Given the description of an element on the screen output the (x, y) to click on. 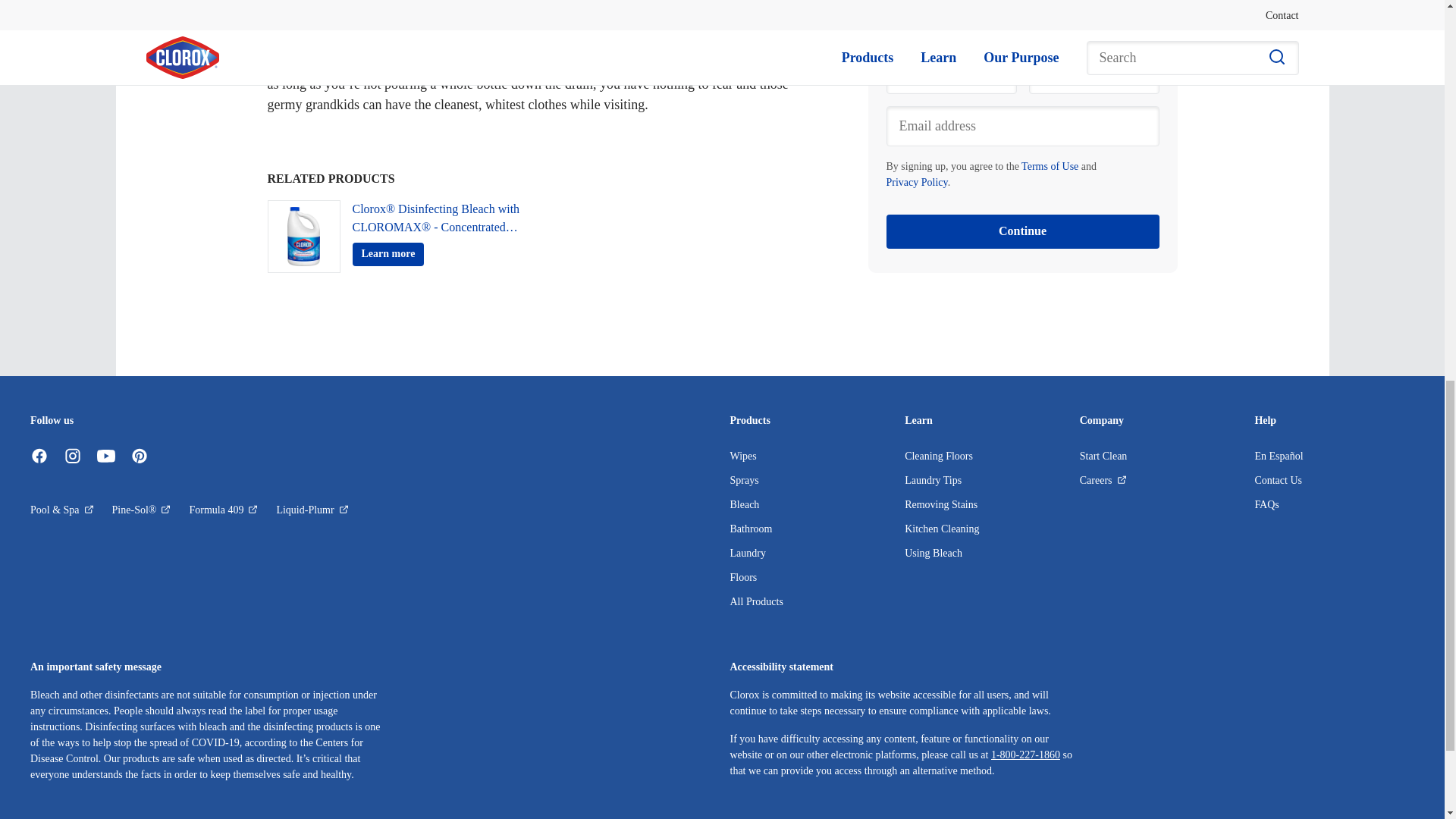
All Products (756, 601)
Wipes (742, 455)
Liquid-Plumr (311, 509)
Cleaning Floors (938, 455)
Laundry Tips (932, 480)
Bleach (743, 504)
Bathroom (750, 528)
Laundry (747, 552)
Floors (743, 577)
Sprays (743, 480)
Removing Stains (940, 504)
Formula 409 (223, 509)
